Given the description of an element on the screen output the (x, y) to click on. 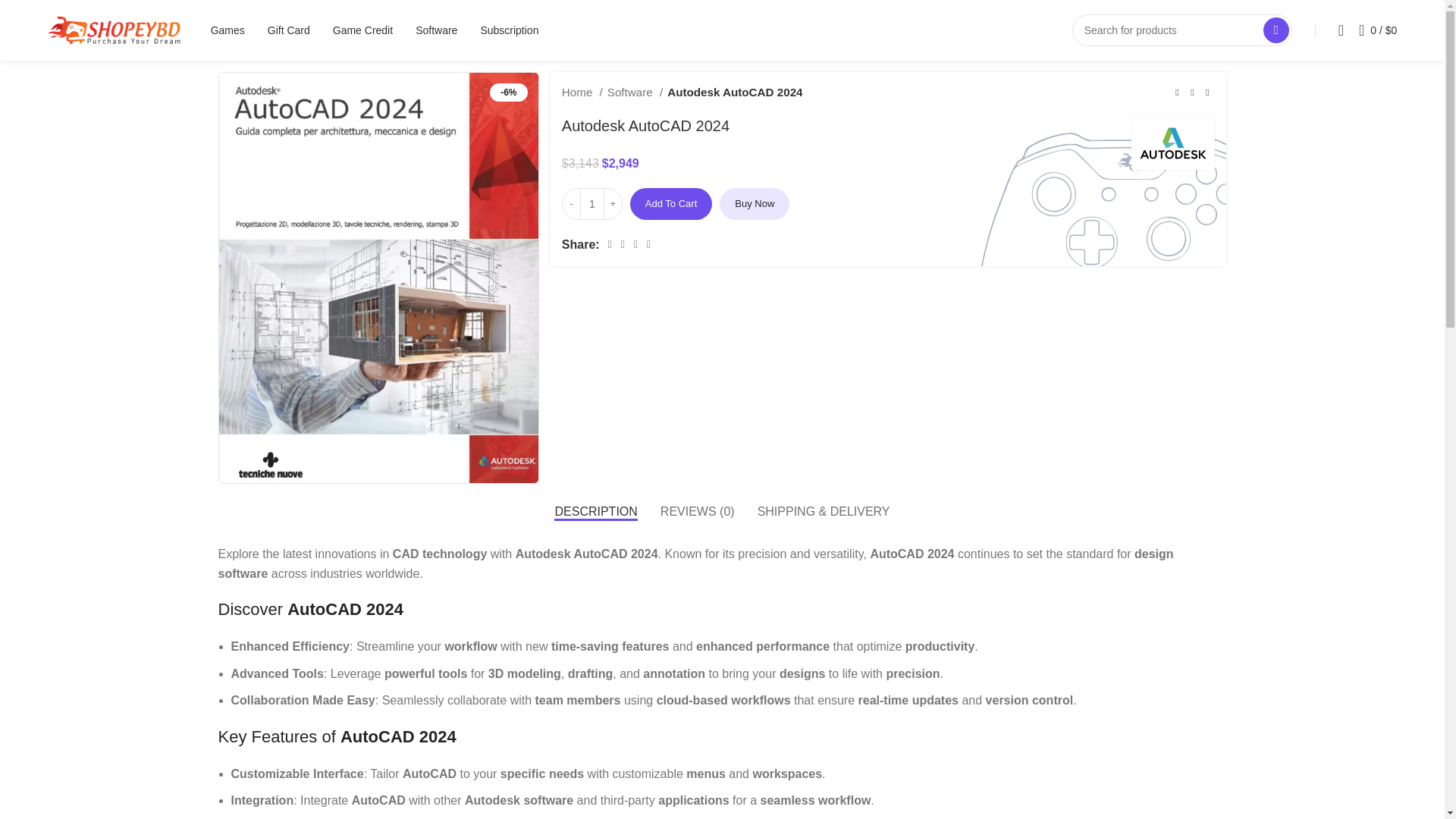
Subscription (509, 30)
My account (1340, 30)
Search for products (1181, 29)
Shopping cart (1378, 30)
Search (1275, 30)
AutoDesk (1172, 143)
Game Credit (363, 30)
1 (592, 204)
Gift Card (288, 30)
Games (227, 30)
Autodesk AutoCAD 2024 (377, 277)
Software (435, 30)
- (571, 204)
